Given the description of an element on the screen output the (x, y) to click on. 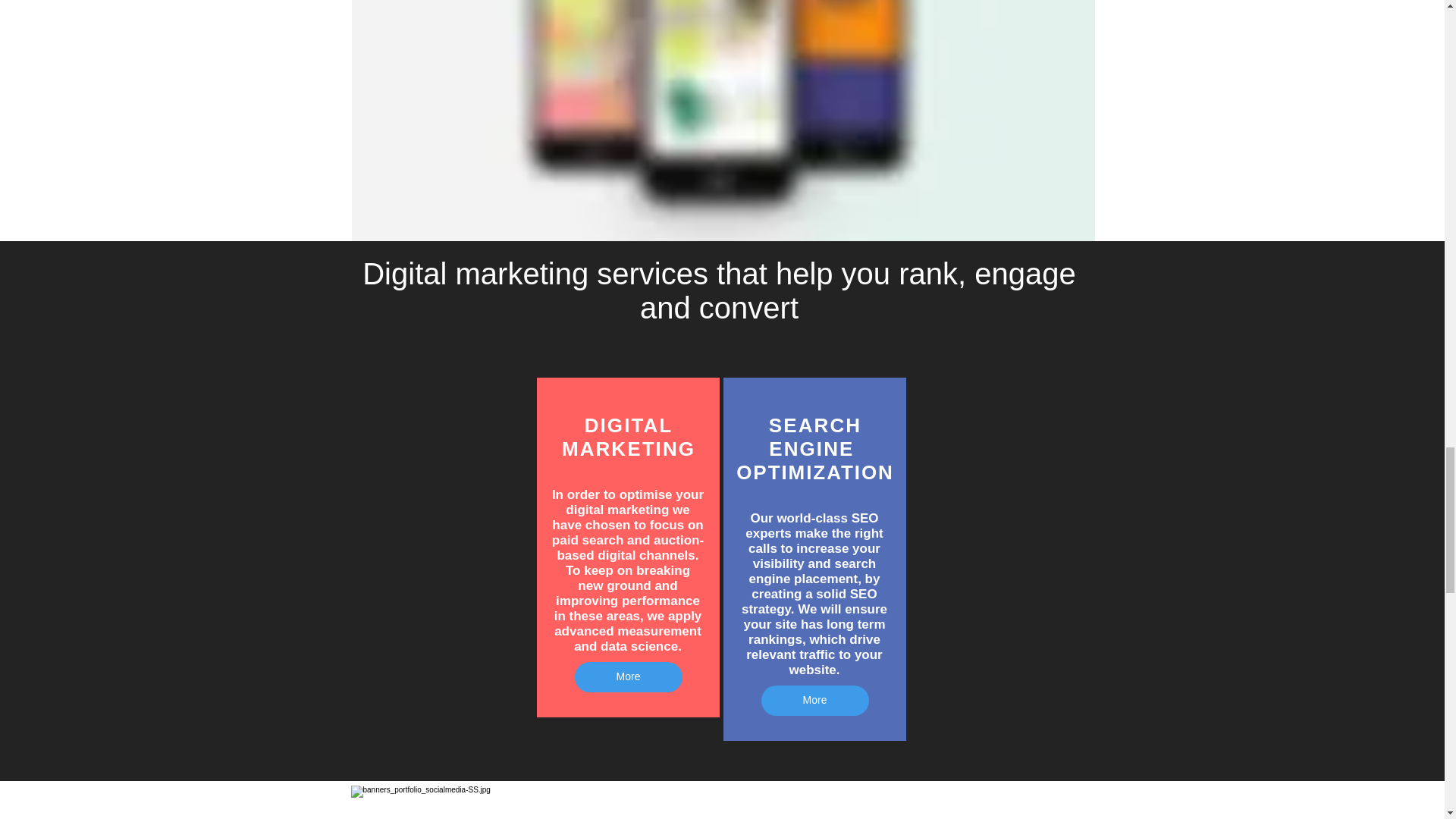
More (815, 700)
More (628, 676)
